Given the description of an element on the screen output the (x, y) to click on. 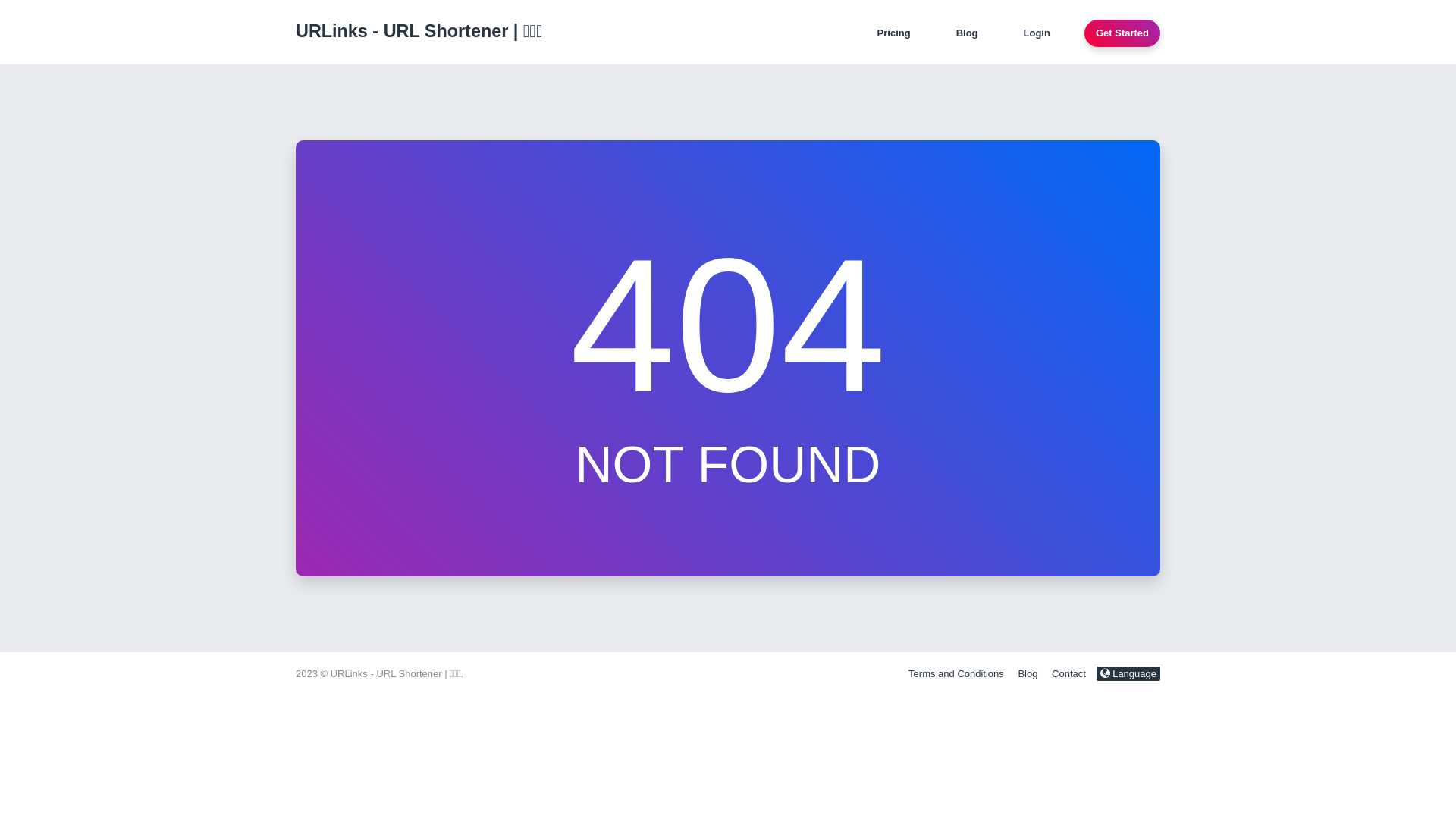
Terms and Conditions Element type: text (955, 673)
Contact Element type: text (1068, 673)
Get Started Element type: text (1122, 33)
Blog Element type: text (1027, 673)
Pricing Element type: text (894, 33)
Blog Element type: text (966, 33)
Login Element type: text (1036, 33)
Language Element type: text (1128, 673)
